Given the description of an element on the screen output the (x, y) to click on. 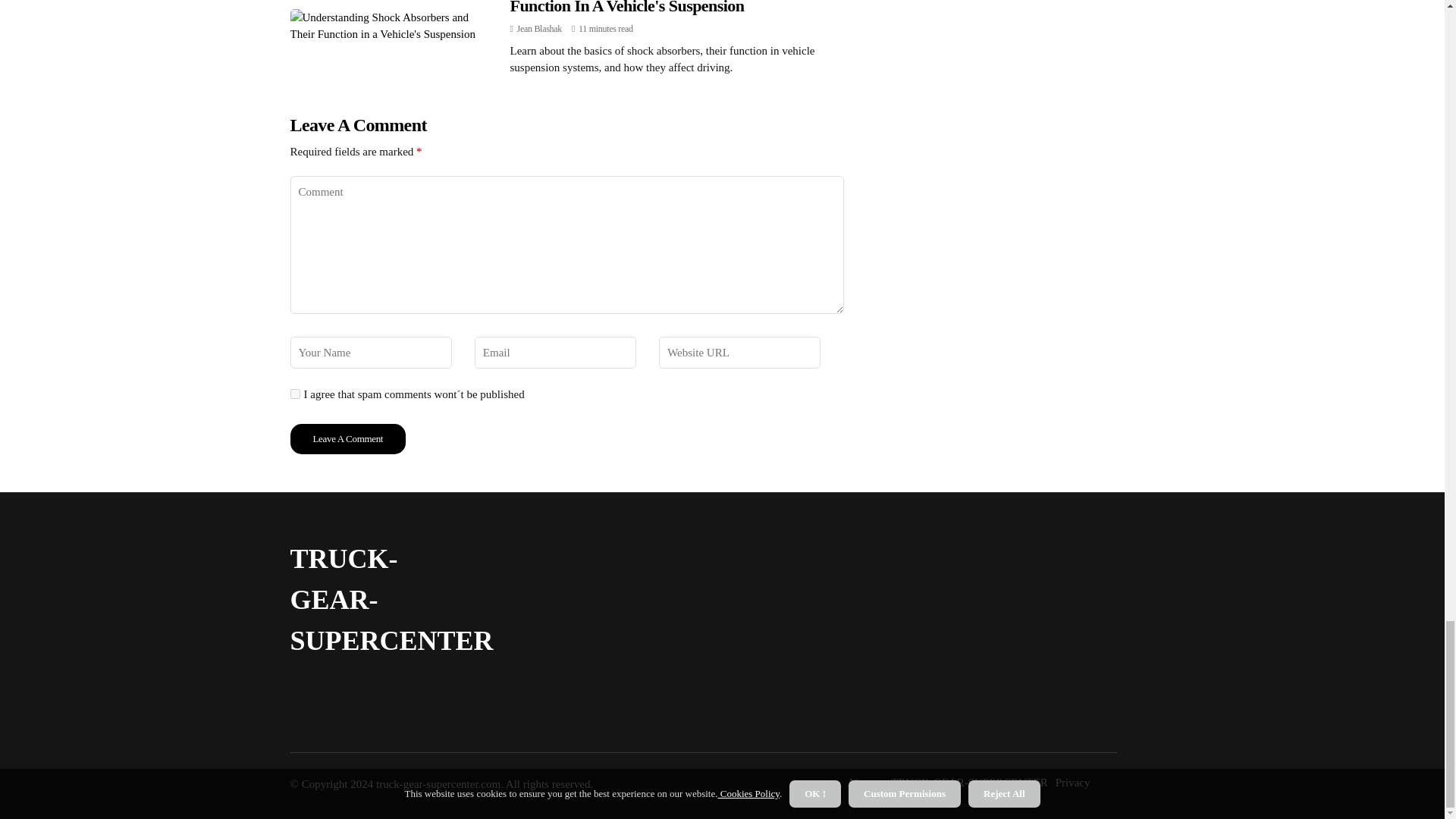
Posts by Jean Blashak (539, 28)
Leave a Comment (347, 439)
yes (294, 393)
